Given the description of an element on the screen output the (x, y) to click on. 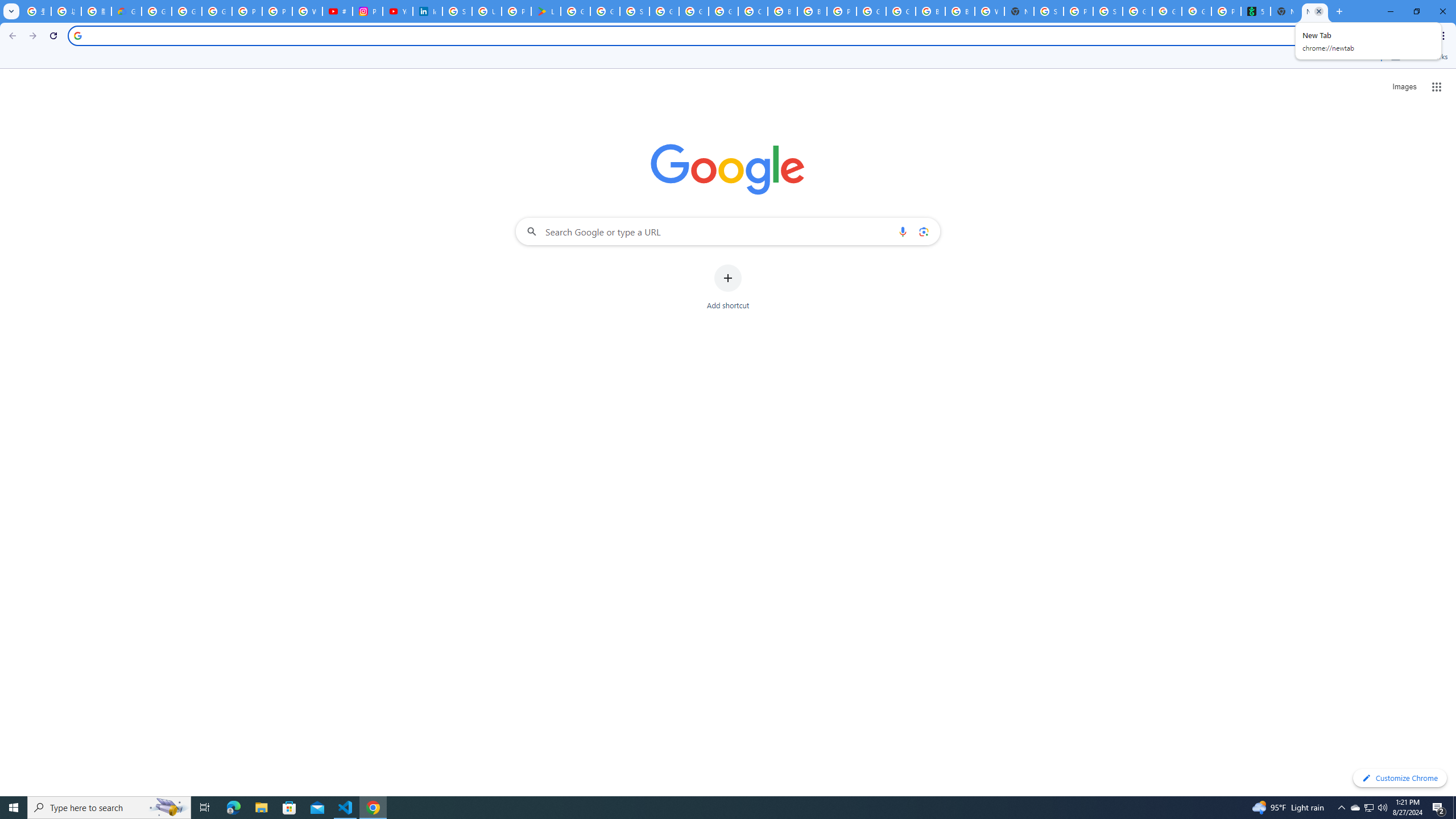
Control your music, videos, and more (1402, 35)
#nbabasketballhighlights - YouTube (337, 11)
You (1422, 35)
Close (1318, 11)
Minimize (1390, 11)
Chrome (1445, 35)
Sign in - Google Accounts (634, 11)
